Given the description of an element on the screen output the (x, y) to click on. 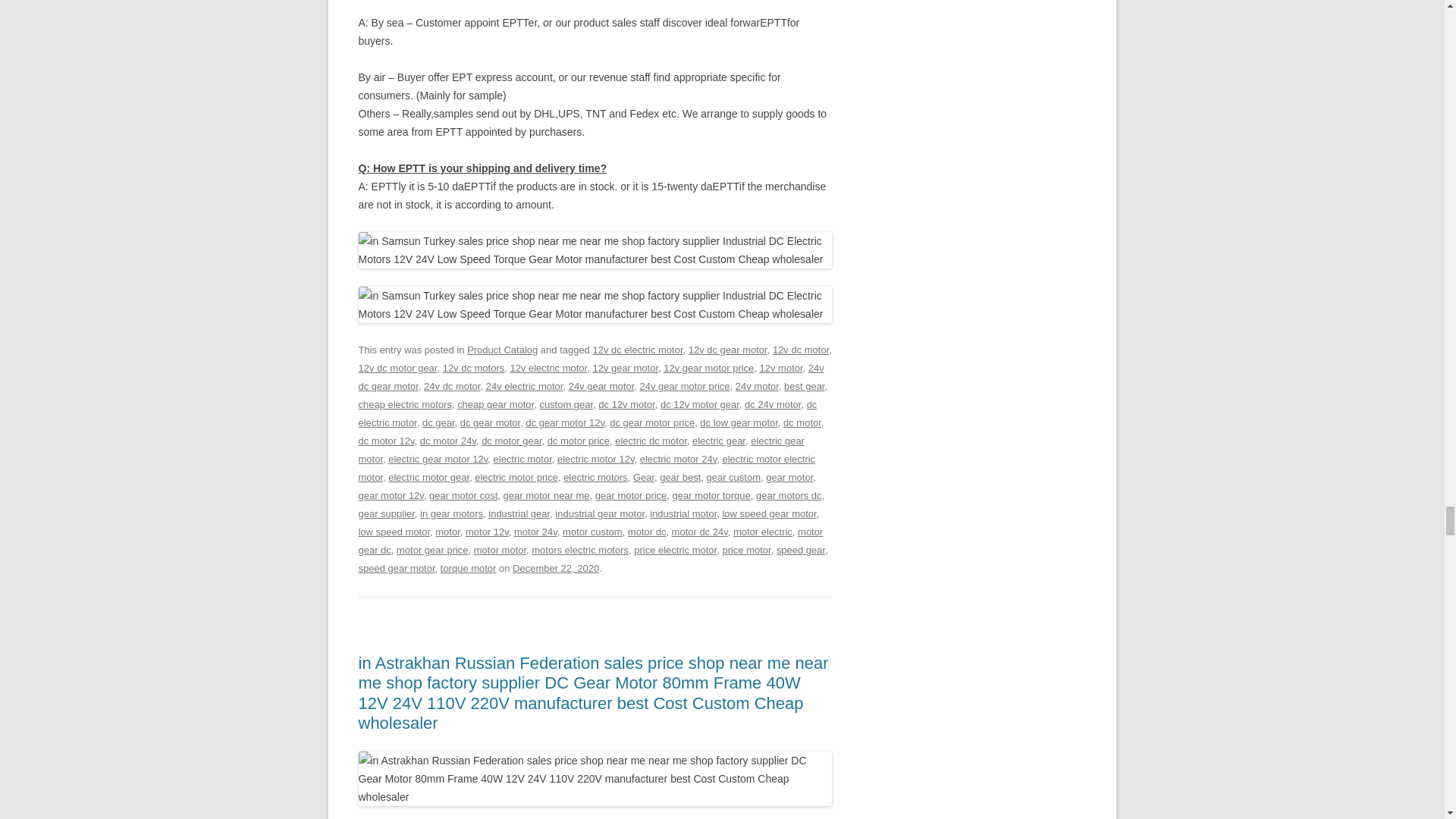
4:54 pm (555, 568)
